Given the description of an element on the screen output the (x, y) to click on. 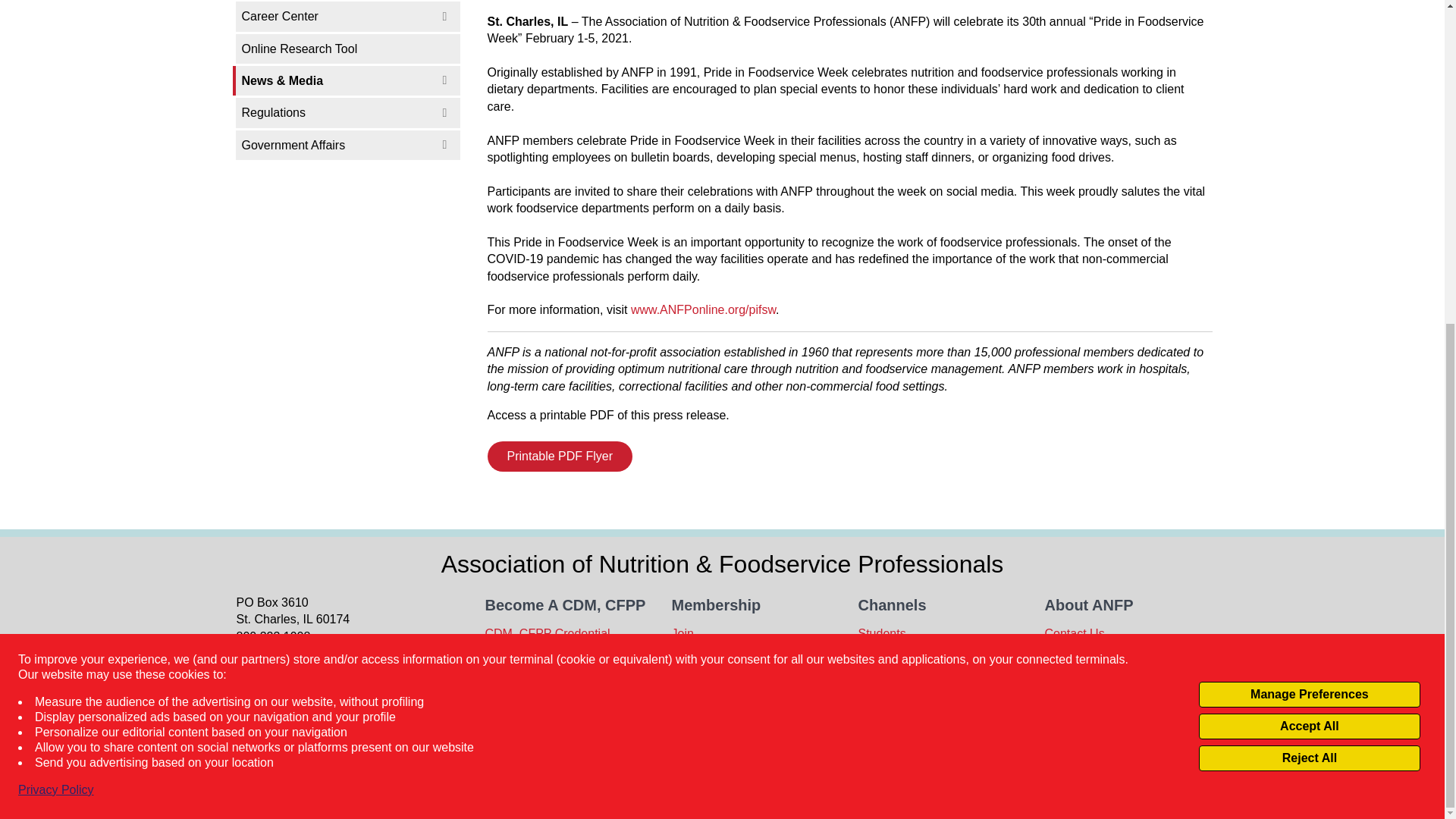
Mobile-App (354, 686)
Privacy Policy (55, 261)
Manage Preferences (1309, 166)
Accept All (1309, 197)
Reject All (1309, 229)
